Given the description of an element on the screen output the (x, y) to click on. 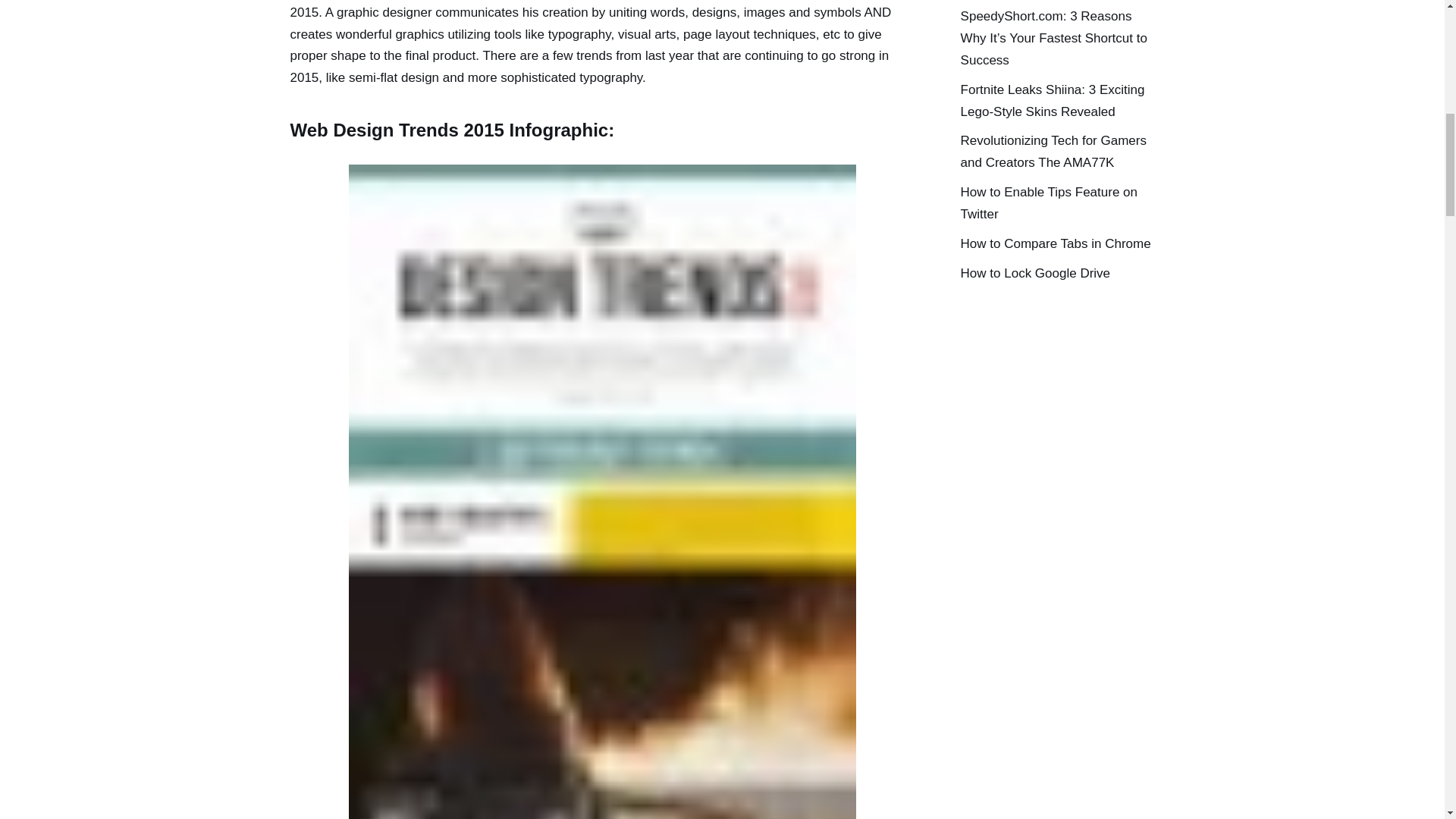
Revolutionizing Tech for Gamers and Creators The AMA77K (1053, 151)
How to Lock Google Drive (1034, 273)
How to Compare Tabs in Chrome (1055, 243)
Fortnite Leaks Shiina: 3 Exciting Lego-Style Skins Revealed (1052, 100)
How to Enable Tips Feature on Twitter (1048, 203)
